Given the description of an element on the screen output the (x, y) to click on. 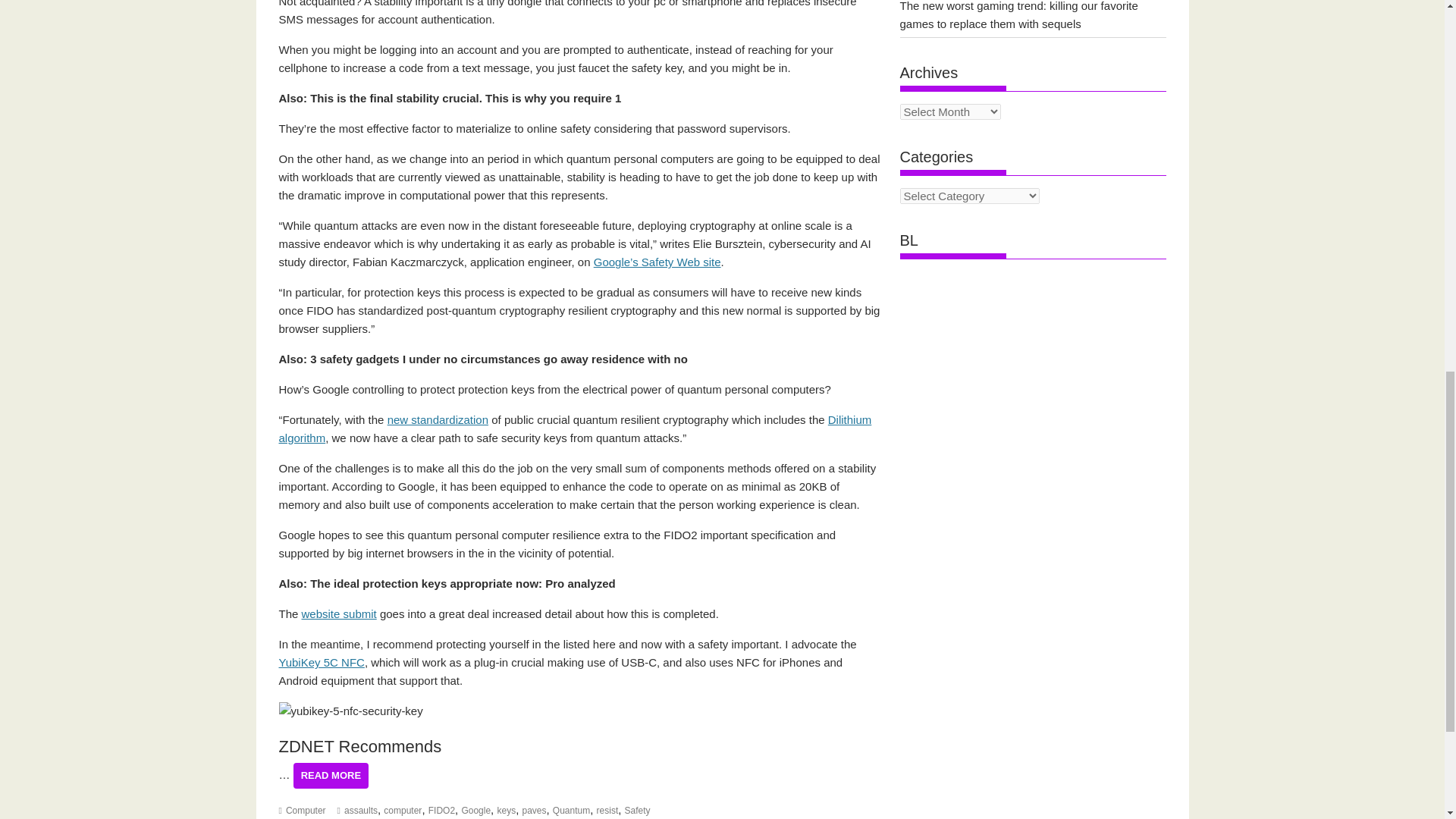
YubiKey 5C NFC (322, 662)
Dilithium algorithm (575, 428)
website submit (339, 613)
new standardization (437, 419)
assaults (360, 810)
READ MORE (331, 775)
computer (403, 810)
FIDO2 (441, 810)
Computer (305, 810)
